Given the description of an element on the screen output the (x, y) to click on. 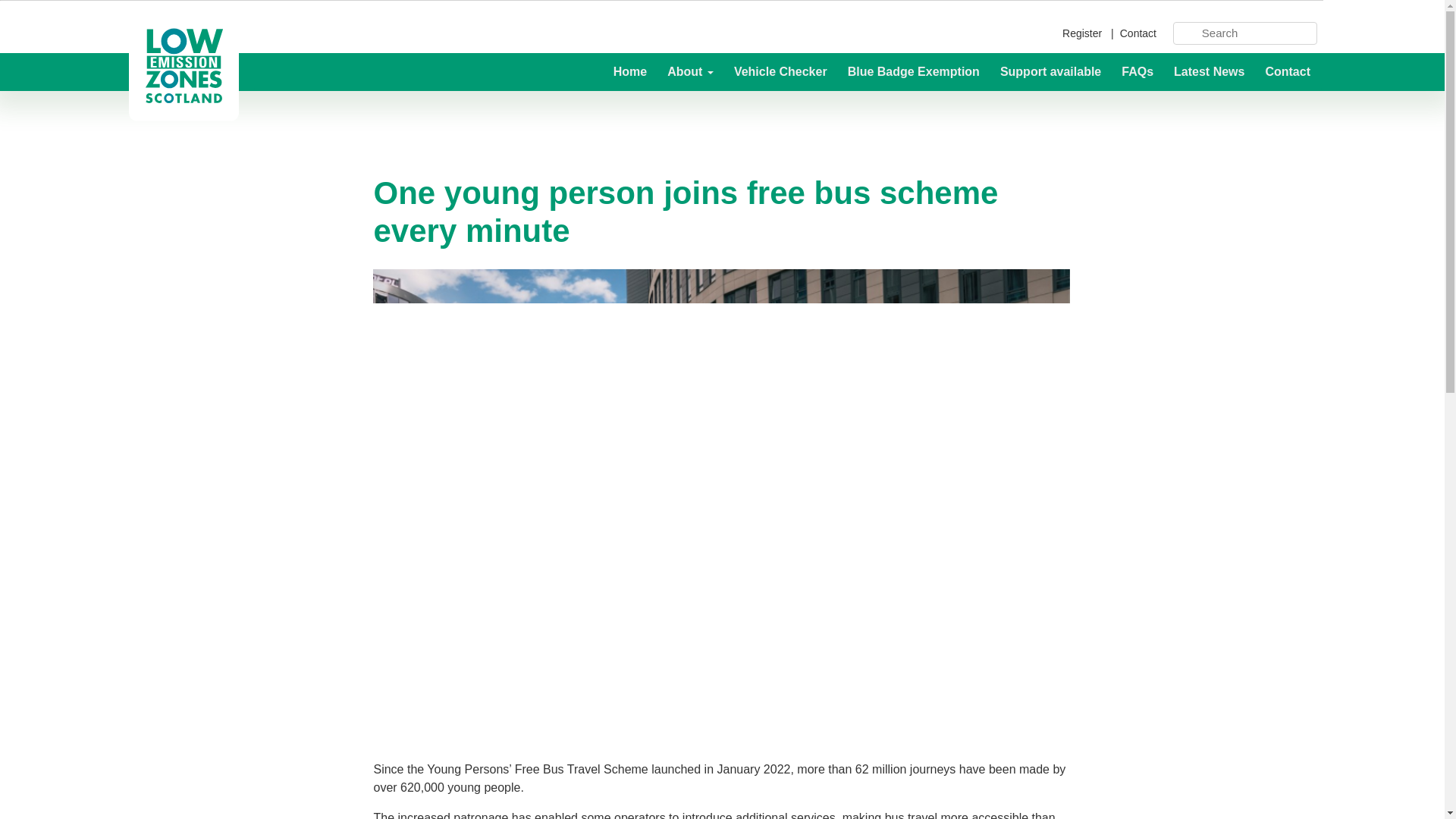
Latest News (1209, 71)
Support available (1051, 71)
FAQs (1138, 71)
Contact (1282, 71)
Register (1085, 33)
Vehicle Checker (781, 71)
About (691, 71)
Blue Badge Exemption (914, 71)
Contact (1135, 33)
Home (631, 71)
Search (1252, 32)
